Given the description of an element on the screen output the (x, y) to click on. 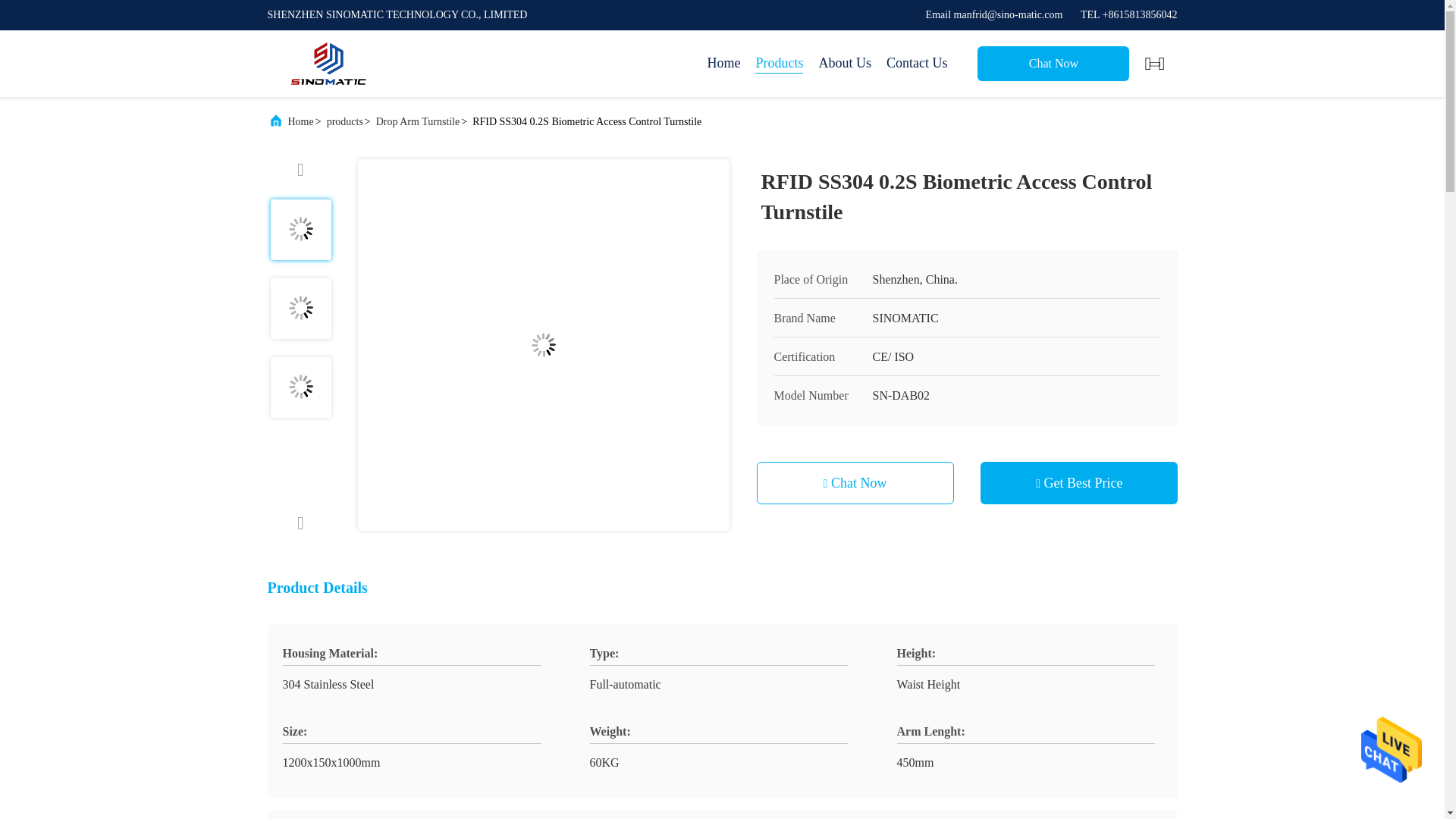
Products (779, 63)
Chat Now (1052, 63)
Home (722, 63)
Email (994, 14)
Home (327, 63)
About Us (844, 63)
Contact Us (916, 63)
